Given the description of an element on the screen output the (x, y) to click on. 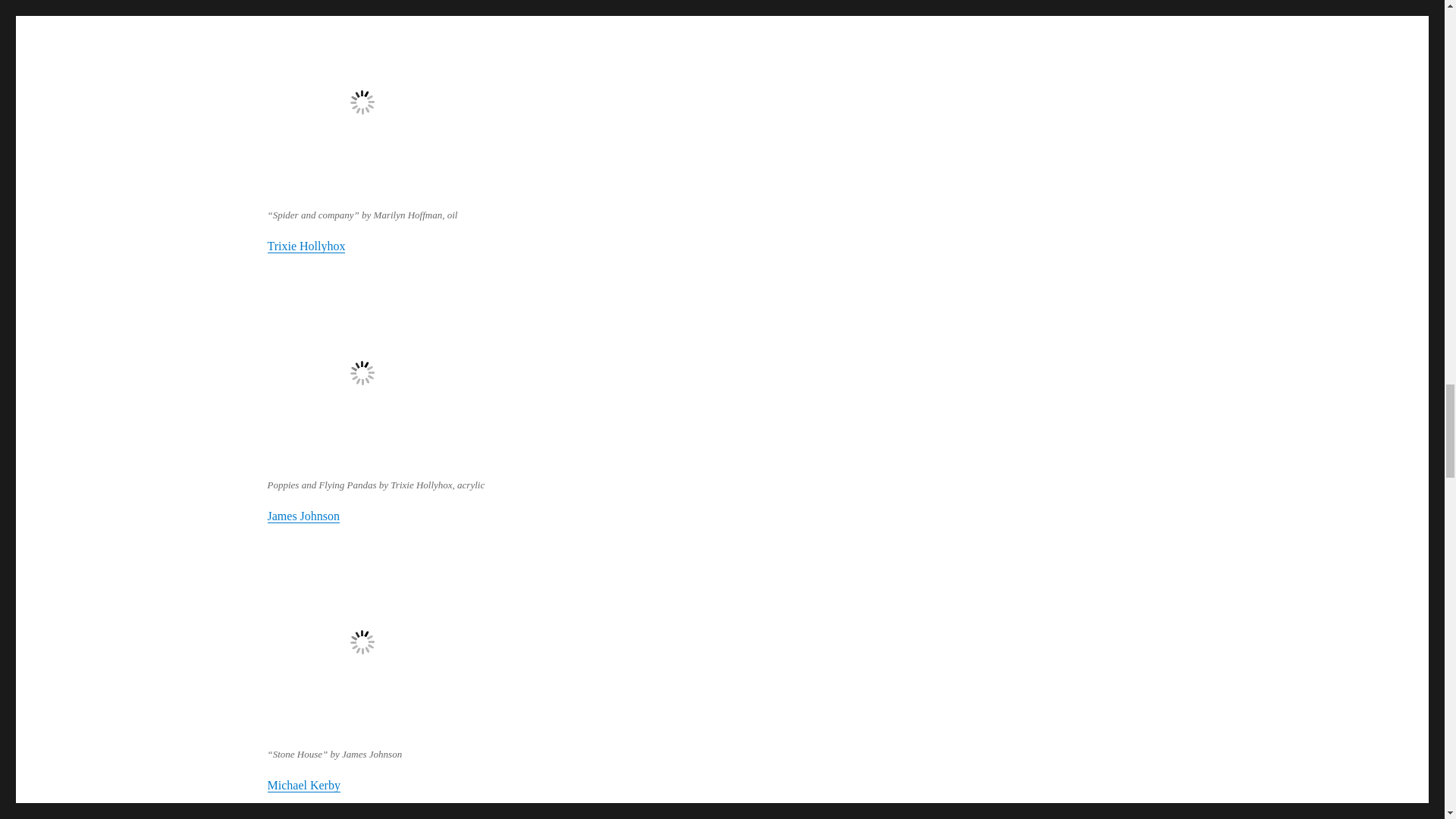
James Johnson (302, 515)
Michael Kerby (302, 784)
Trixie Hollyhox (305, 245)
